Given the description of an element on the screen output the (x, y) to click on. 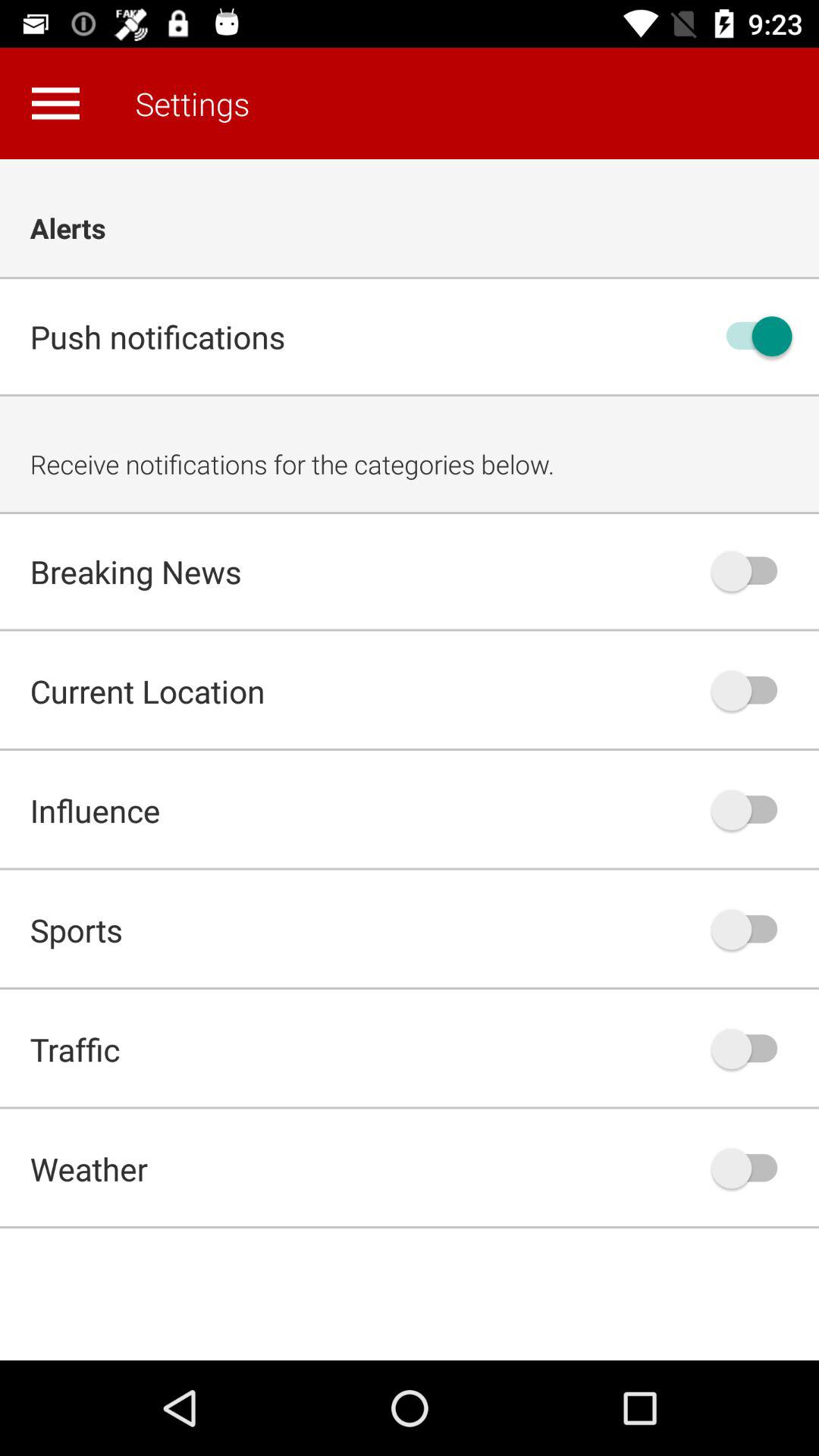
push notification switch (751, 336)
